Given the description of an element on the screen output the (x, y) to click on. 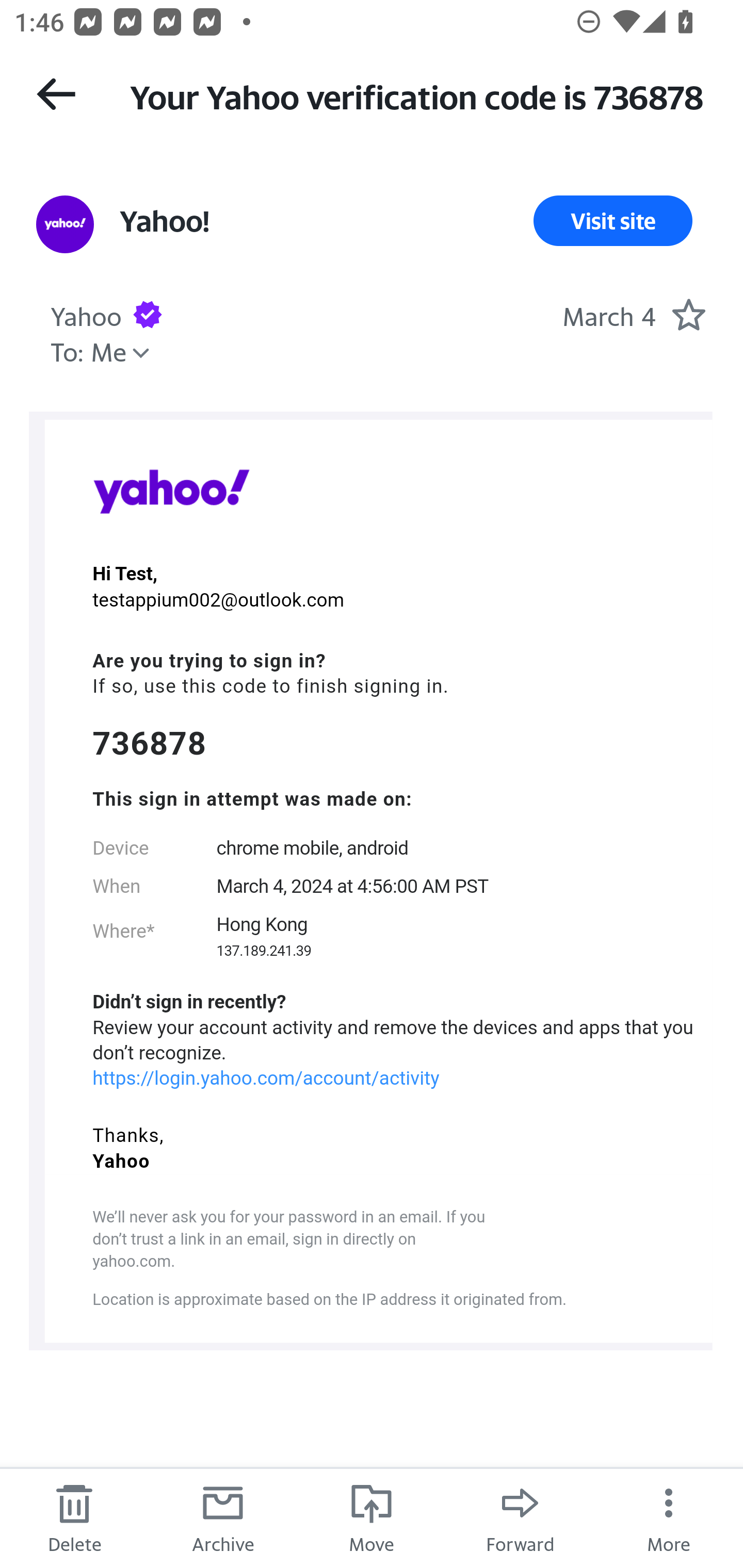
Back (55, 93)
Your Yahoo verification code is 736878 (418, 94)
View all messages from sender (64, 225)
Visit site Visit Site Link (612, 221)
Yahoo! Sender Yahoo! (164, 220)
Yahoo Sender Yahoo (86, 314)
Mark as starred. (688, 314)
Yahoo (171, 490)
https://login.yahoo.com/account/activity (265, 1077)
Delete (74, 1517)
Archive (222, 1517)
Move (371, 1517)
Forward (519, 1517)
More (668, 1517)
